Given the description of an element on the screen output the (x, y) to click on. 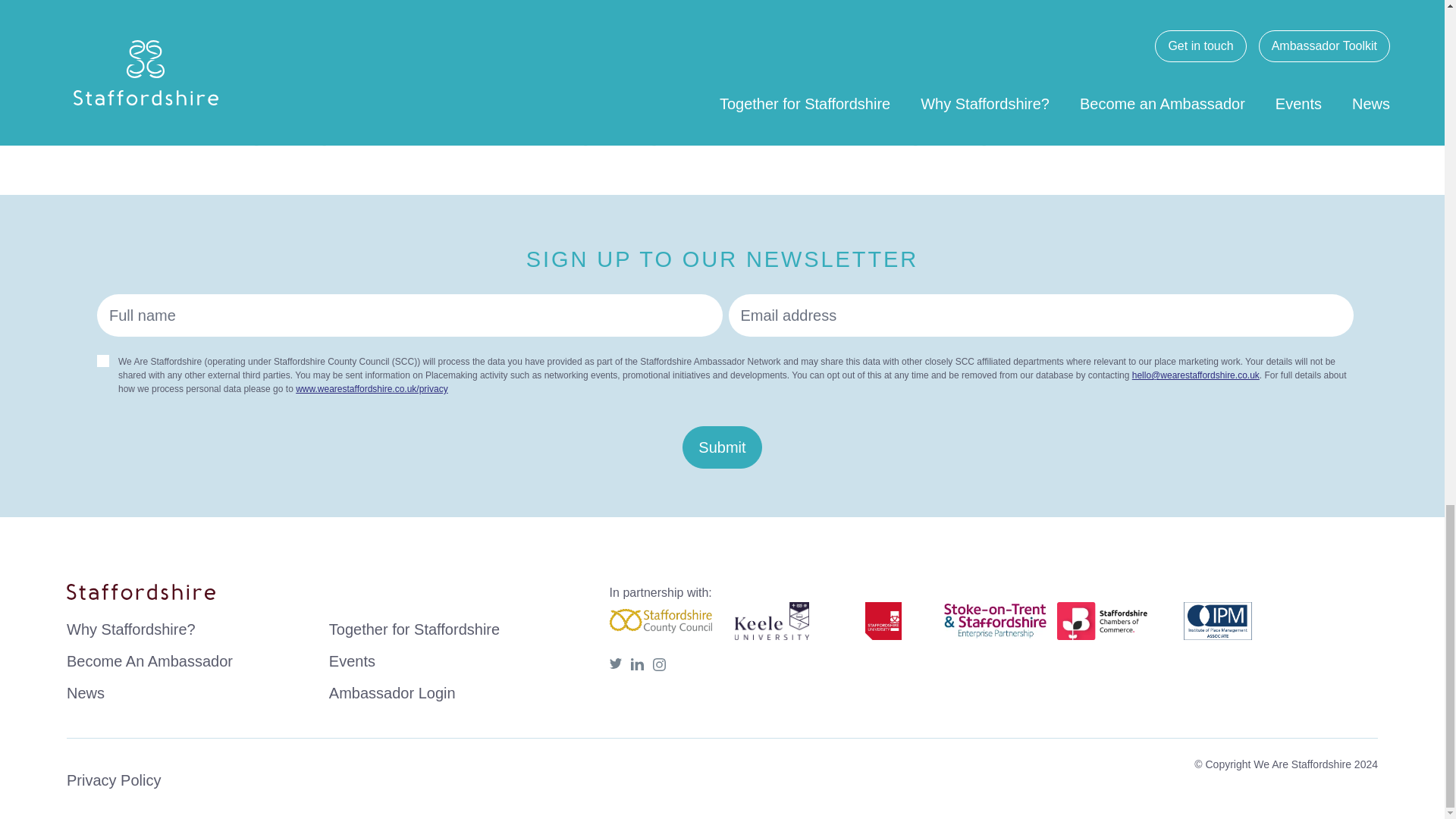
Read more (949, 125)
Read more (289, 125)
true (103, 360)
Read more (619, 125)
